Given the description of an element on the screen output the (x, y) to click on. 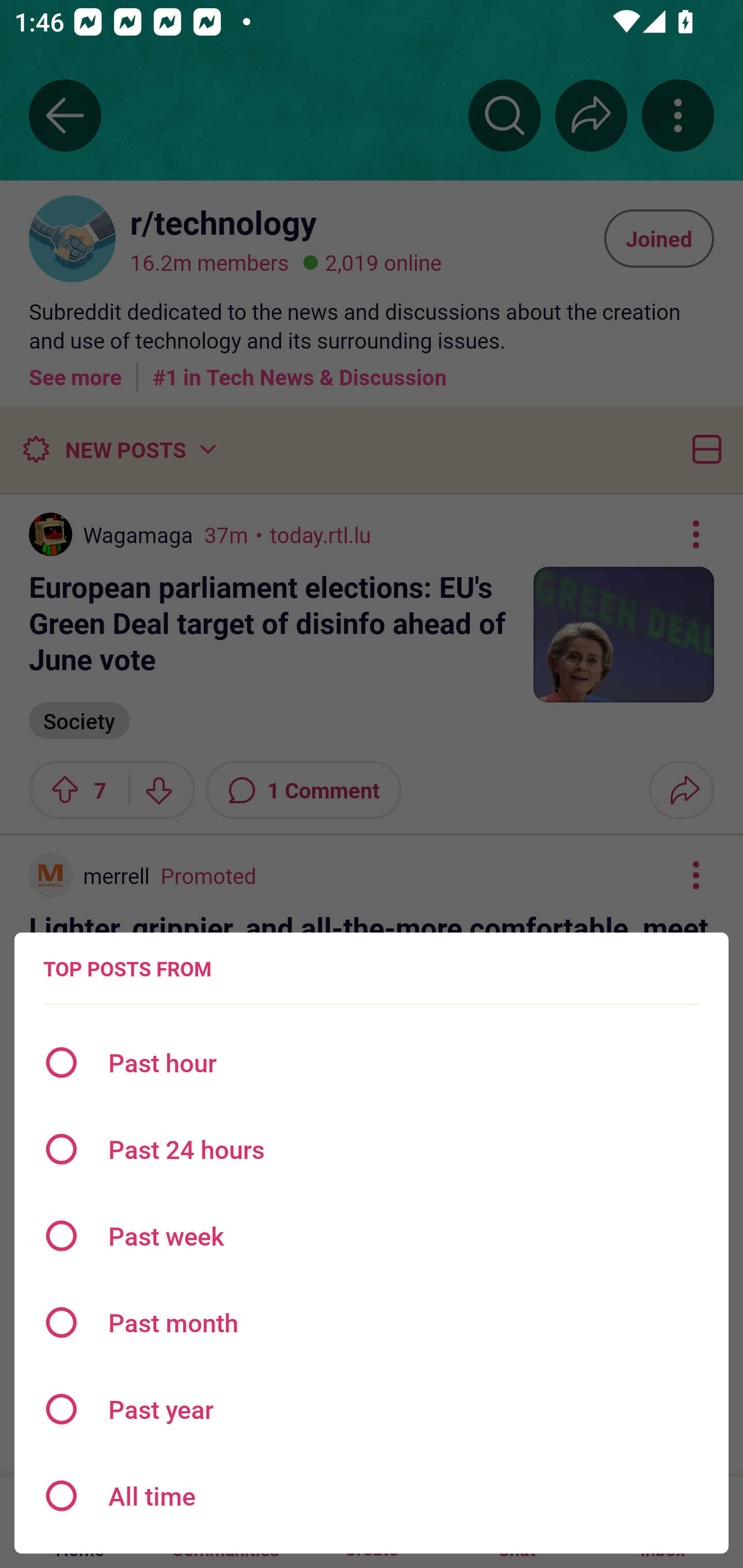
TOP POSTS FROM (127, 968)
Past hour (371, 1062)
Past 24 hours (371, 1149)
Past week (371, 1236)
Past month (371, 1322)
Past year (371, 1408)
All time (371, 1495)
